Given the description of an element on the screen output the (x, y) to click on. 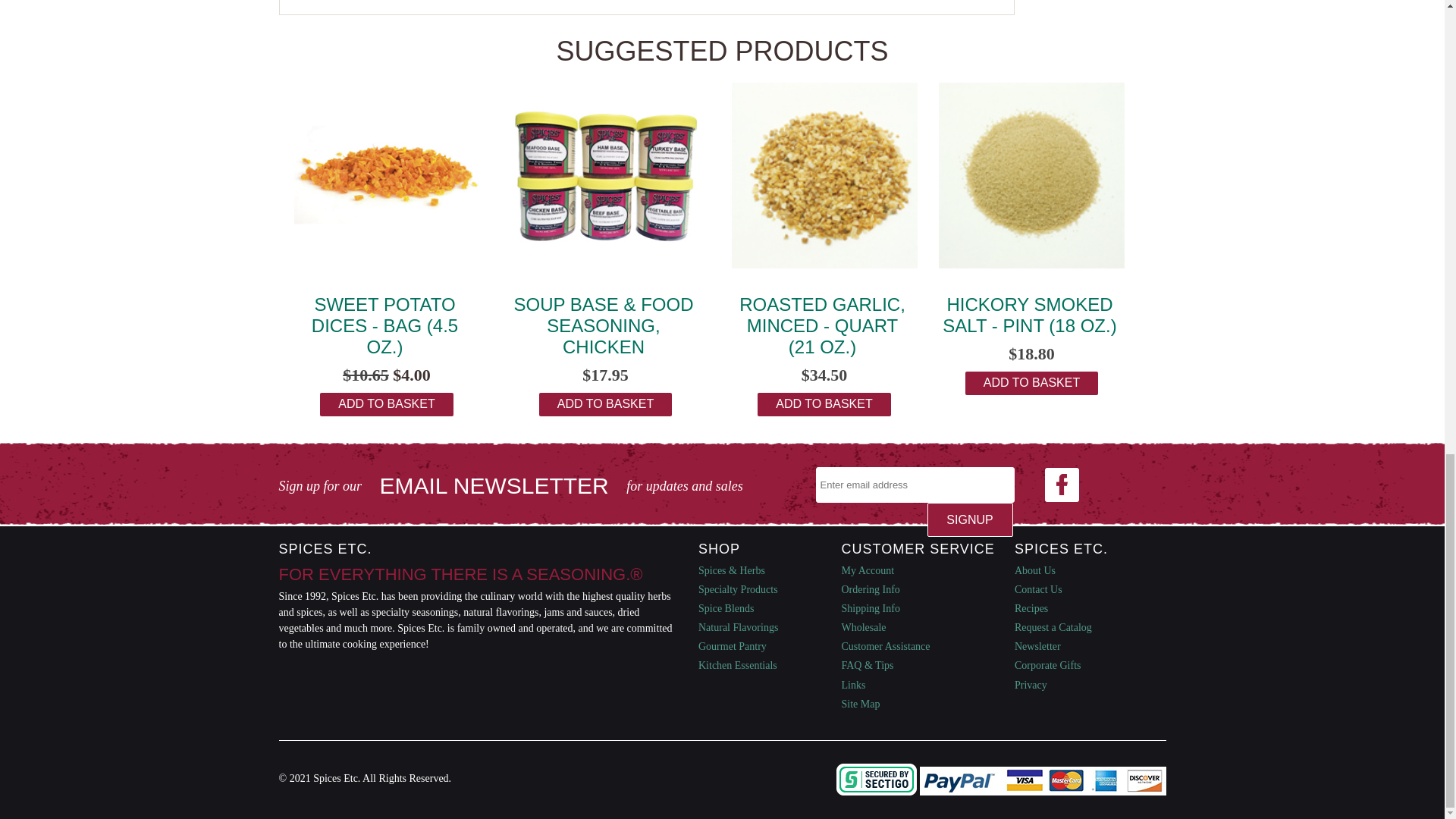
Add to Basket (1031, 382)
Add to Basket (386, 404)
Add to Basket (823, 404)
Signup (968, 519)
Add to Basket (604, 404)
